Given the description of an element on the screen output the (x, y) to click on. 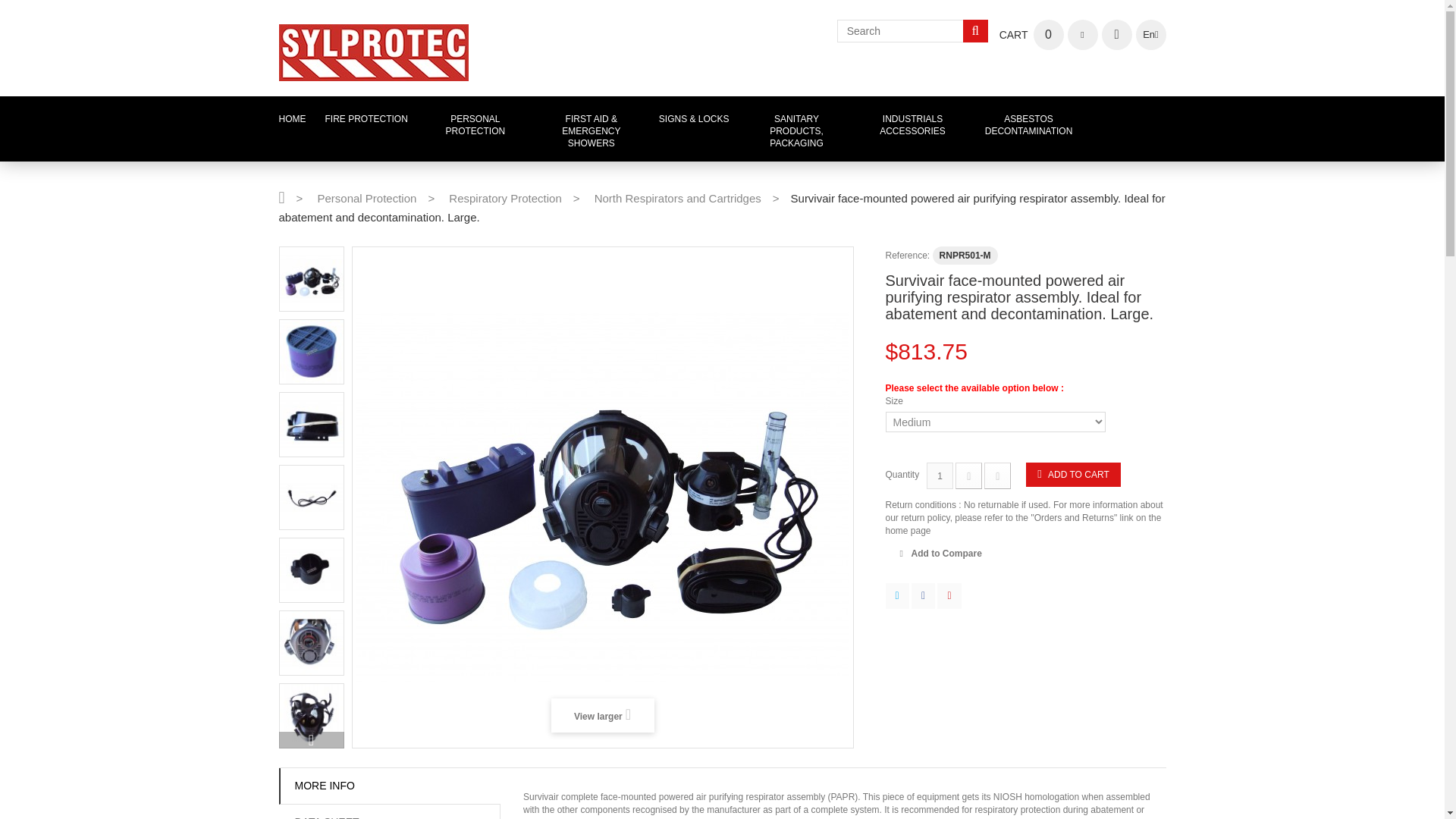
Sign in (1115, 34)
Next (311, 740)
1 (939, 475)
HOME (1031, 34)
FIRE PROTECTION (292, 119)
North Respirators and Cartridges (365, 119)
Add to Compare (677, 198)
